Given the description of an element on the screen output the (x, y) to click on. 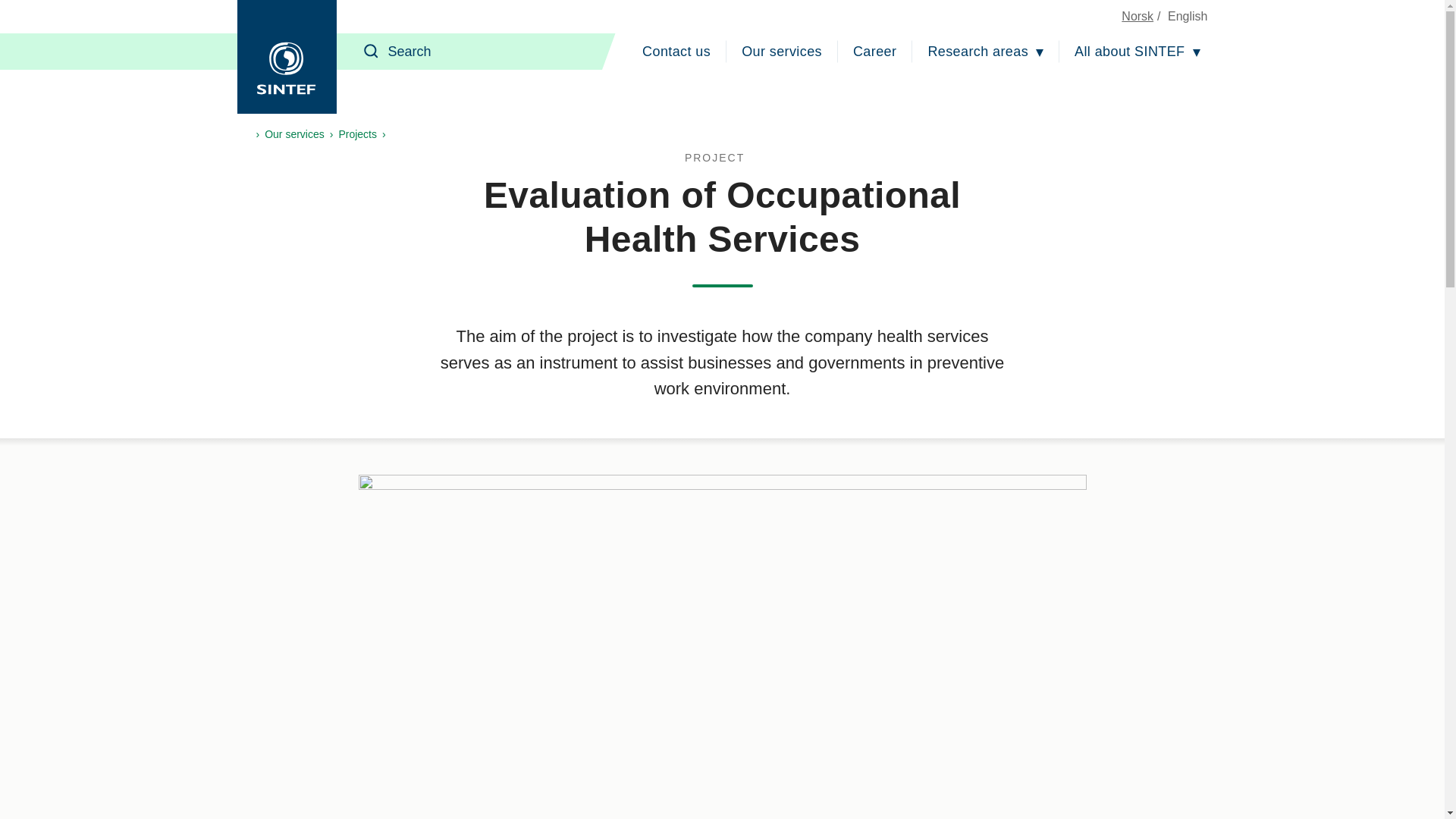
Contact us (675, 51)
All about SINTEF (1137, 51)
Norsk (1137, 16)
All projects (722, 157)
Research areas (985, 51)
Career (874, 51)
Our services (781, 51)
